Given the description of an element on the screen output the (x, y) to click on. 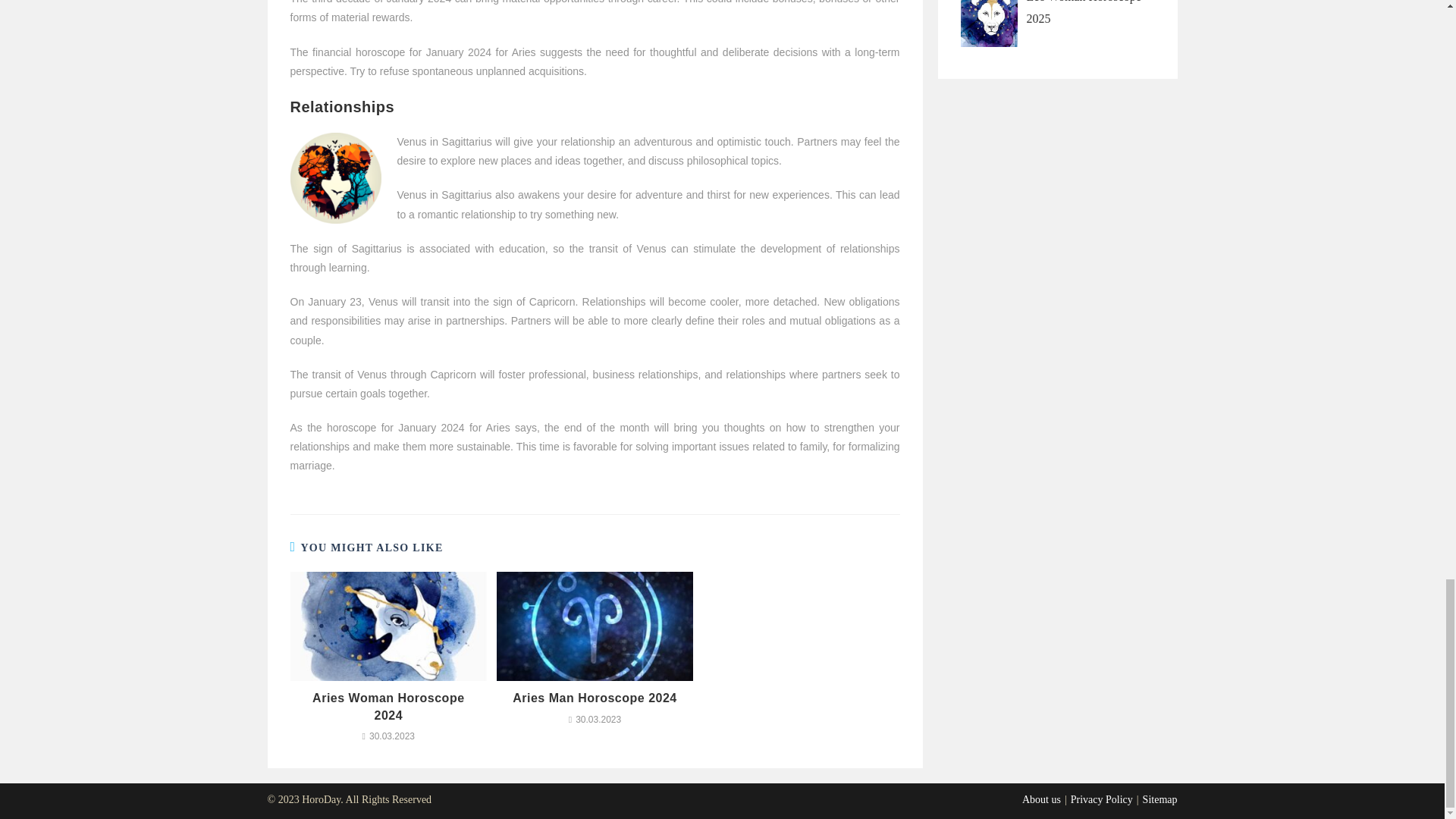
Aries Woman Horoscope 2024 (387, 706)
Aries Woman Horoscope 2024 (387, 706)
Aries Man Horoscope 2024 (594, 698)
